Given the description of an element on the screen output the (x, y) to click on. 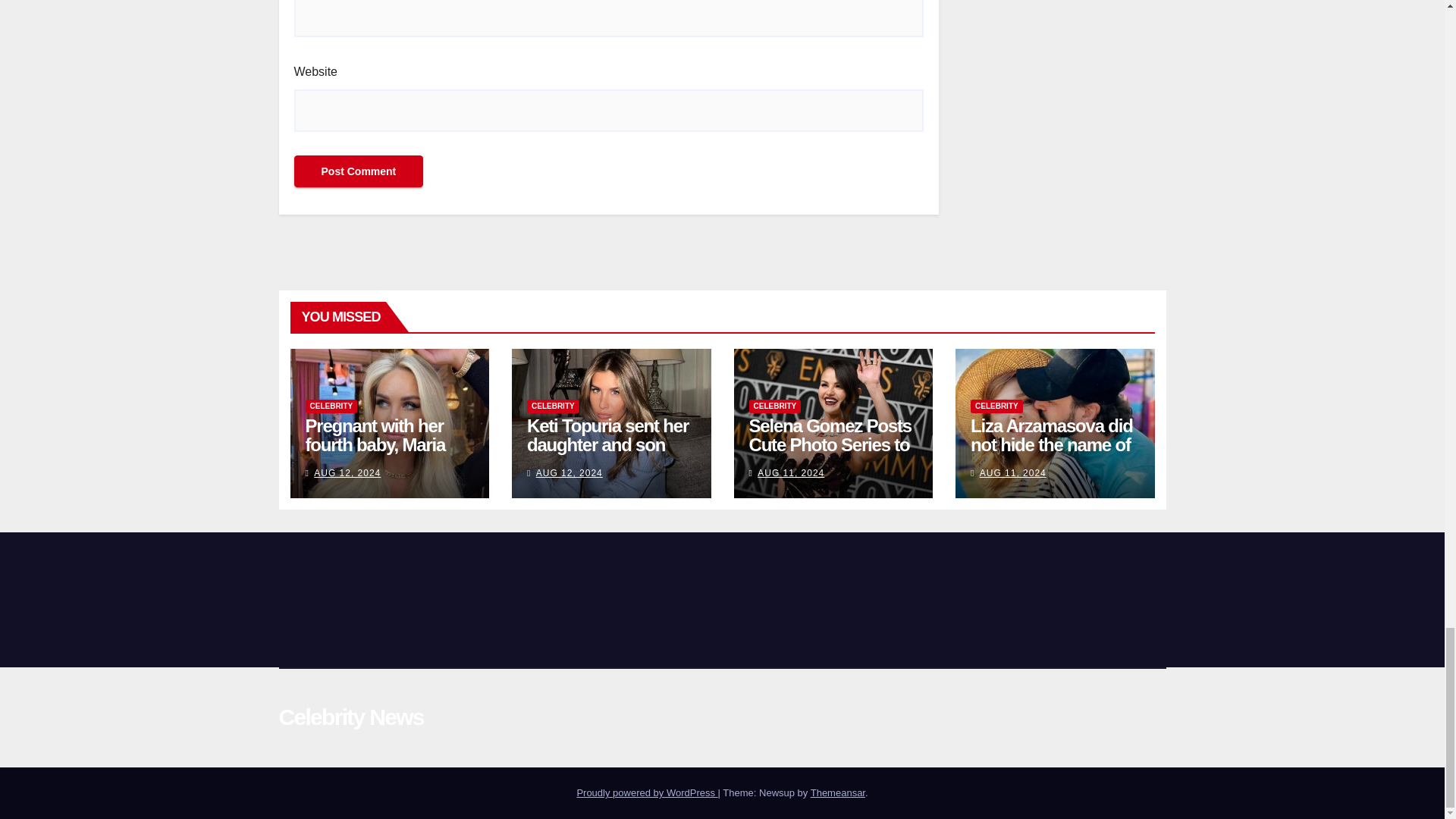
CELEBRITY (330, 406)
Post Comment (358, 171)
Post Comment (358, 171)
CELEBRITY (553, 406)
AUG 12, 2024 (347, 472)
